Given the description of an element on the screen output the (x, y) to click on. 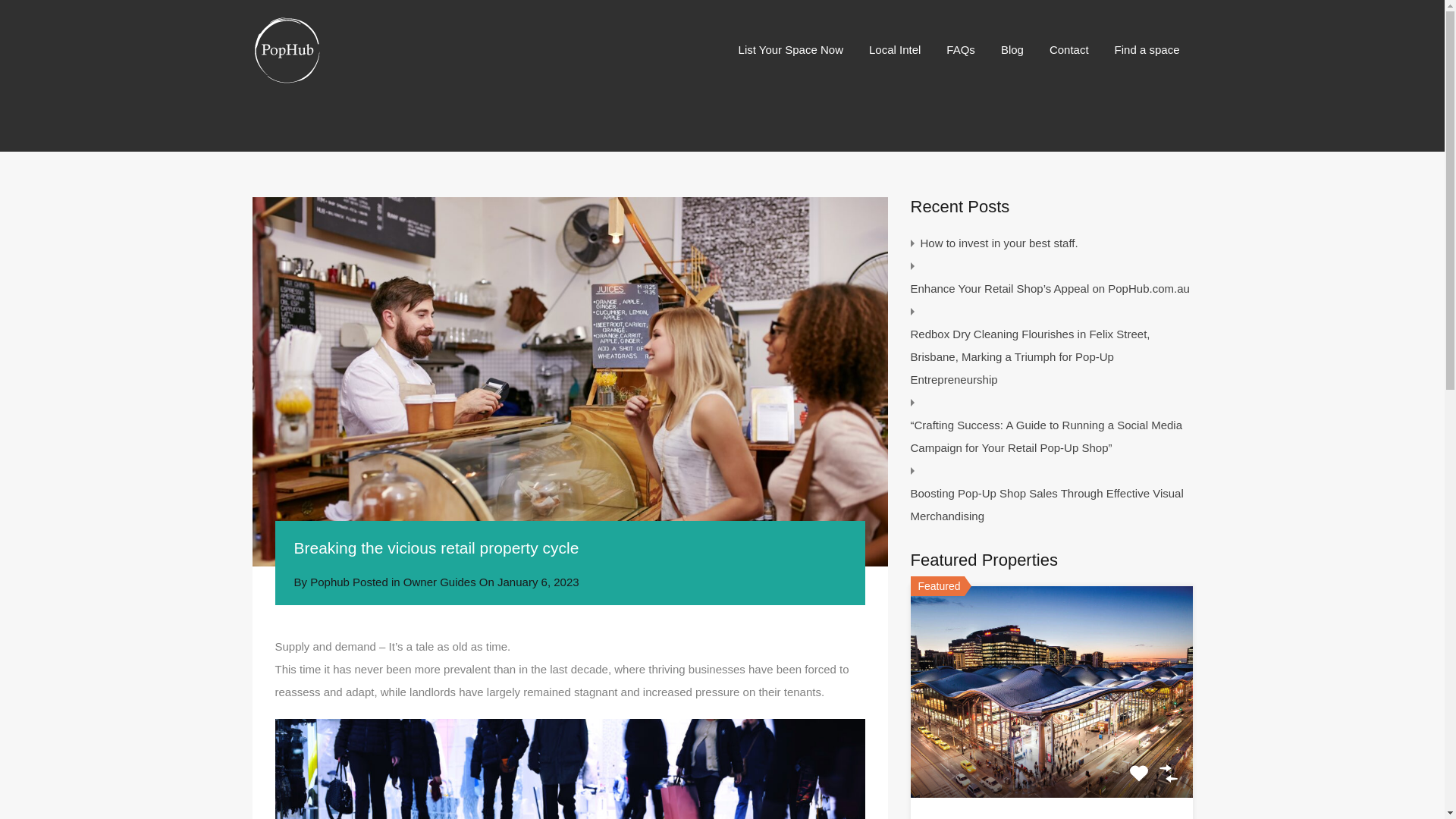
Local Intel (894, 48)
Contact (1069, 48)
Blog (1012, 48)
Owner Guides (439, 581)
List Your Space Now (790, 48)
How to invest in your best staff. (999, 242)
FAQs (960, 48)
